Given the description of an element on the screen output the (x, y) to click on. 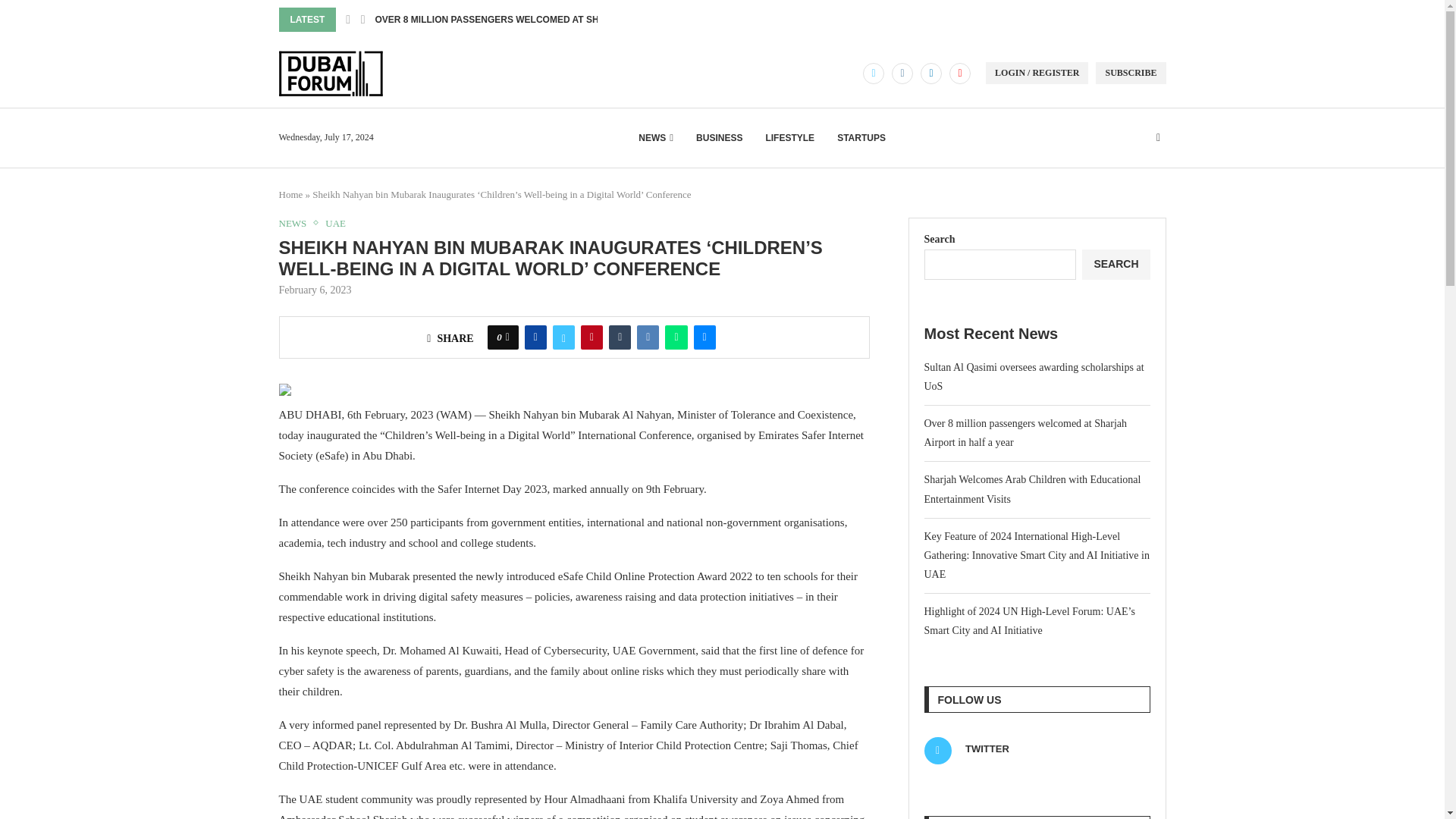
SUBSCRIBE (1131, 73)
STARTUPS (861, 137)
Like (507, 337)
BUSINESS (718, 137)
NEWS (655, 137)
OVER 8 MILLION PASSENGERS WELCOMED AT SHARJAH AIRPORT... (526, 19)
LIFESTYLE (789, 137)
